Given the description of an element on the screen output the (x, y) to click on. 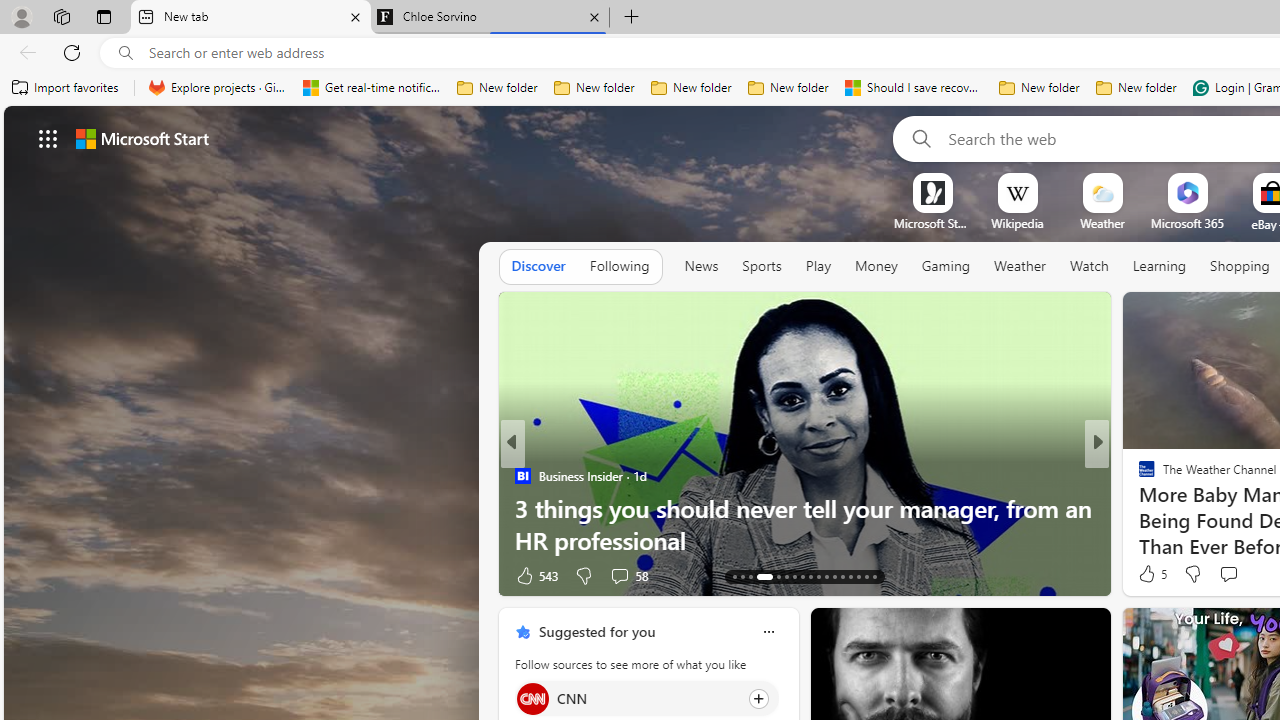
Search icon (125, 53)
Money (876, 267)
View comments 2 Comment (1229, 575)
AutomationID: tab-13 (733, 576)
To get missing image descriptions, open the context menu. (932, 192)
Play (817, 265)
View comments 58 Comment (11, 575)
AutomationID: tab-15 (750, 576)
146 Like (1151, 574)
Money (875, 265)
Yumophile (1138, 507)
View comments 7 Comment (1229, 575)
View comments 25 Comment (1229, 575)
